Given the description of an element on the screen output the (x, y) to click on. 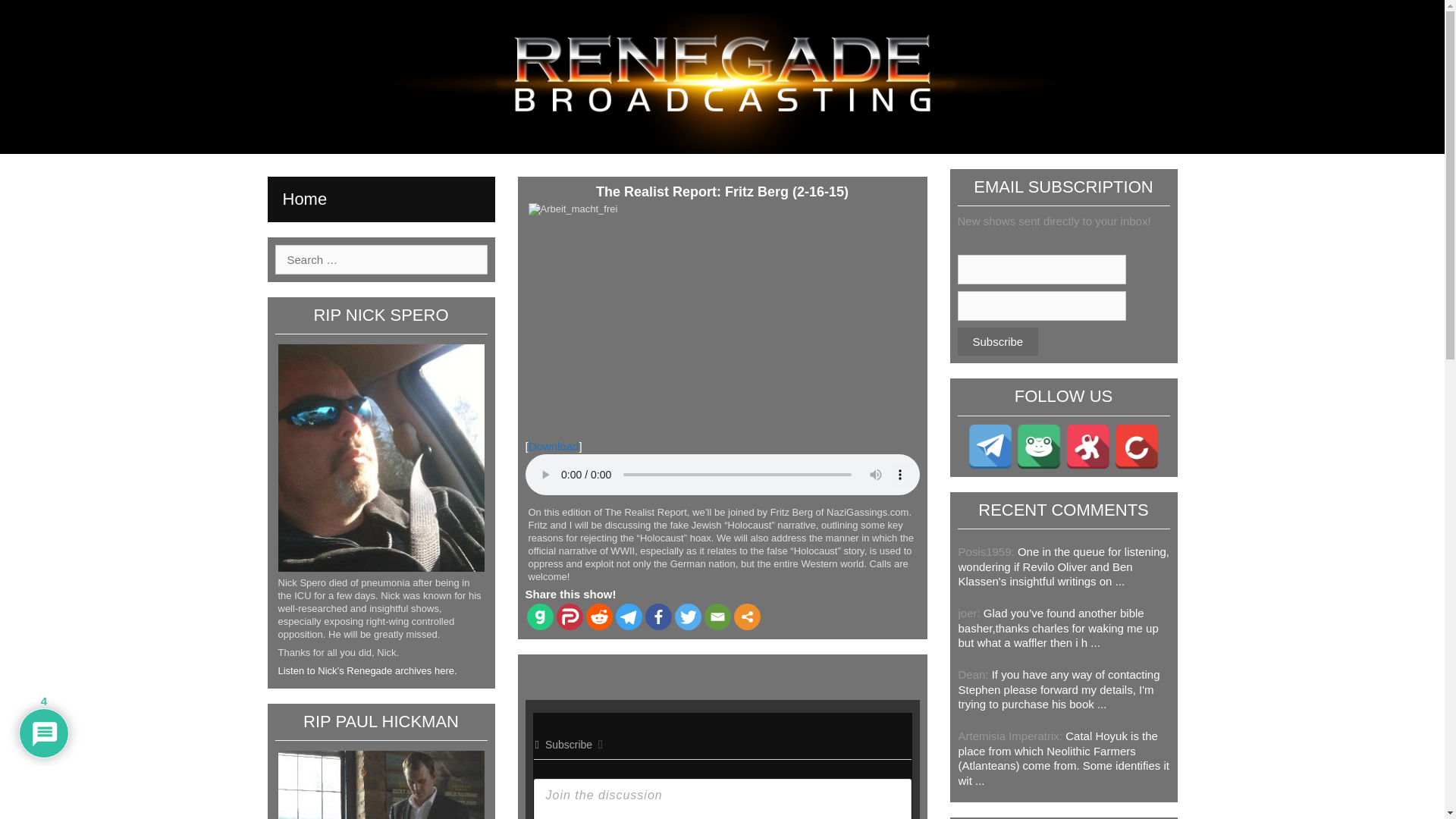
Twitter (688, 616)
Gab (539, 616)
Renegade Broadcasting (721, 82)
Facebook (658, 616)
Renegade Broadcasting (721, 83)
Telegram (628, 616)
Email (716, 616)
Reddit (598, 616)
Download (553, 445)
More (746, 616)
